Given the description of an element on the screen output the (x, y) to click on. 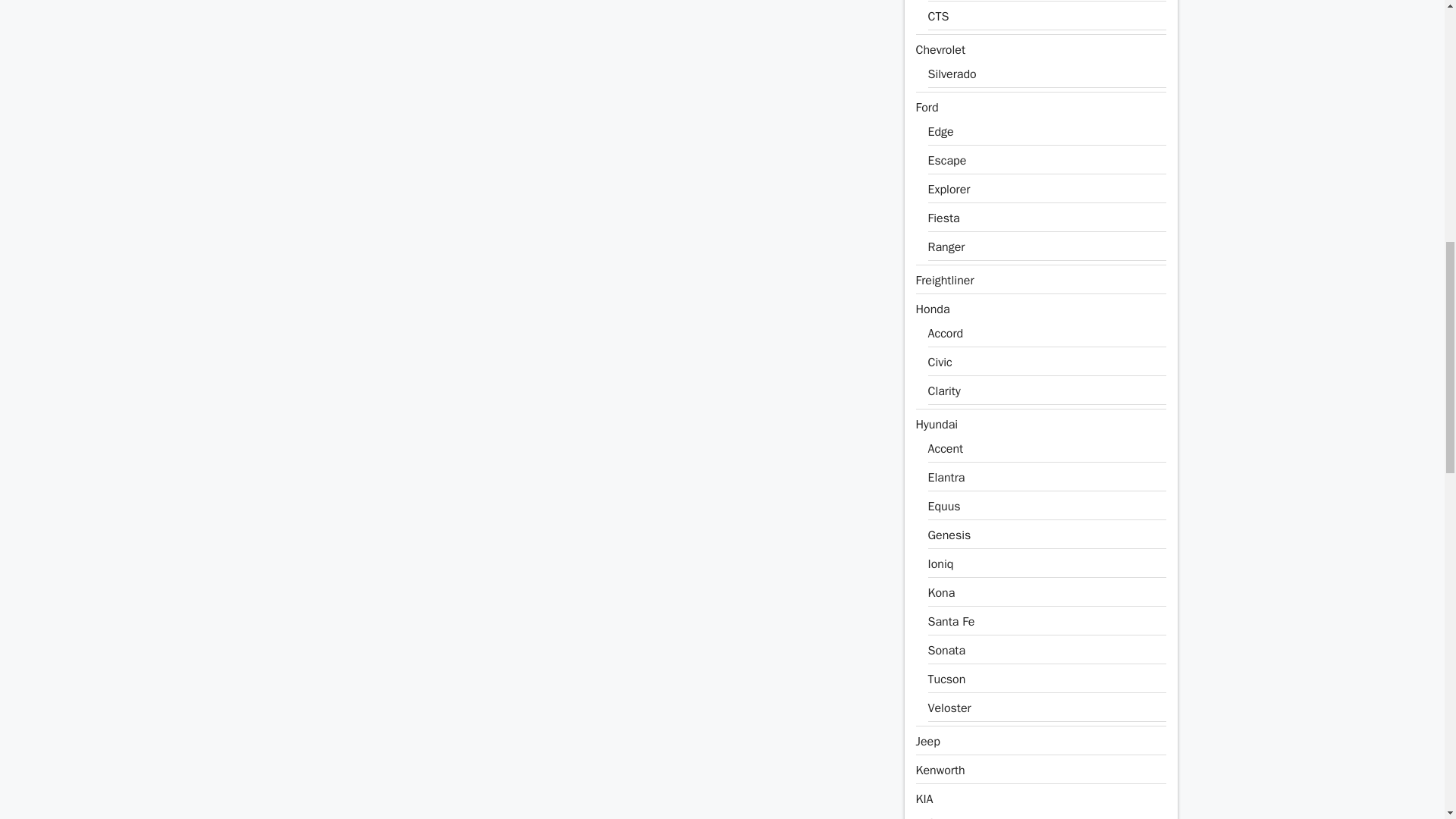
Scroll back to top (1406, 720)
